Given the description of an element on the screen output the (x, y) to click on. 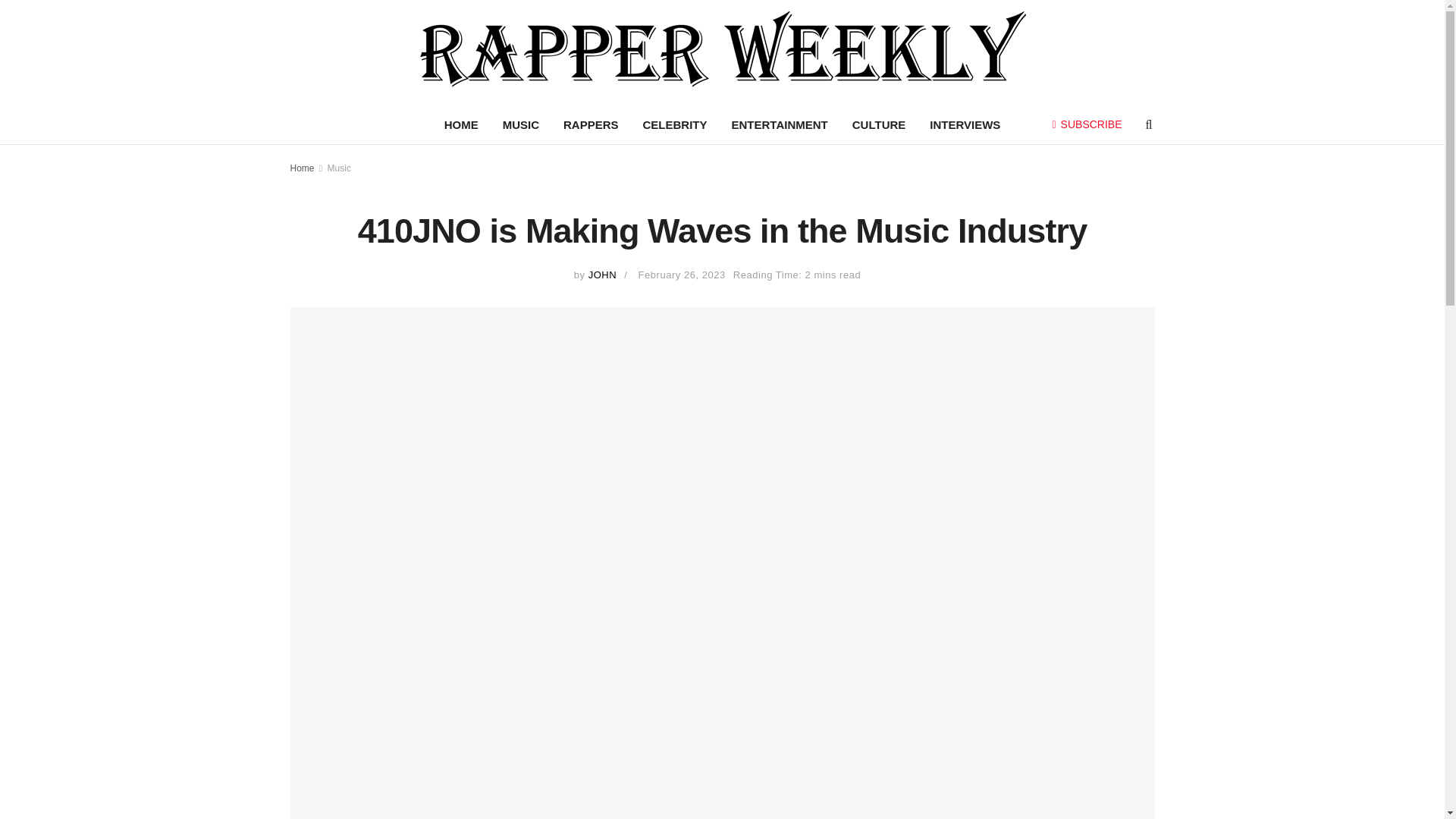
JOHN (601, 274)
CULTURE (879, 125)
SUBSCRIBE (1087, 123)
HOME (461, 125)
ENTERTAINMENT (779, 125)
Music (338, 167)
CELEBRITY (674, 125)
Home (301, 167)
February 26, 2023 (682, 274)
INTERVIEWS (964, 125)
